Given the description of an element on the screen output the (x, y) to click on. 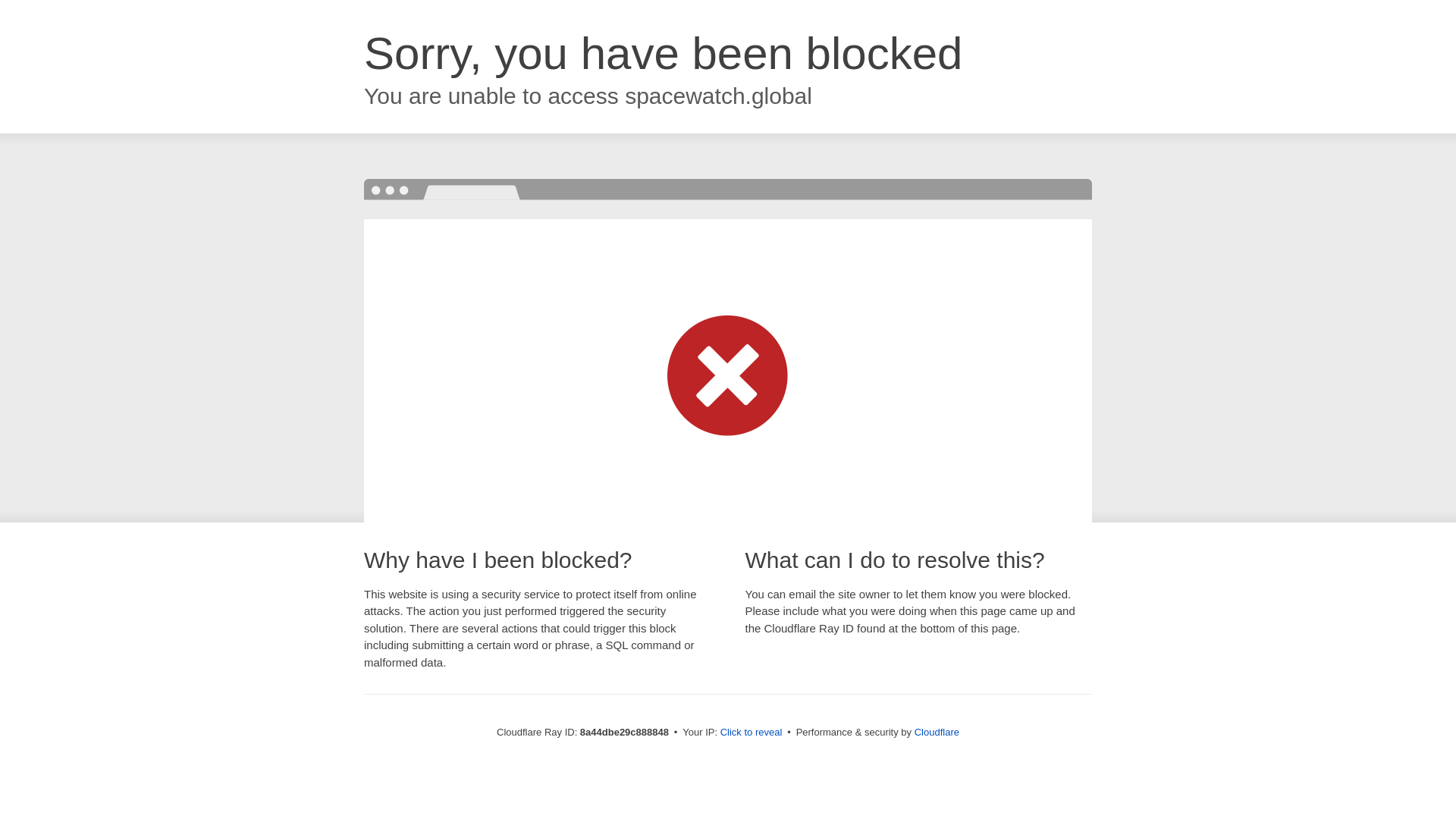
Click to reveal (751, 732)
Cloudflare (936, 731)
